Given the description of an element on the screen output the (x, y) to click on. 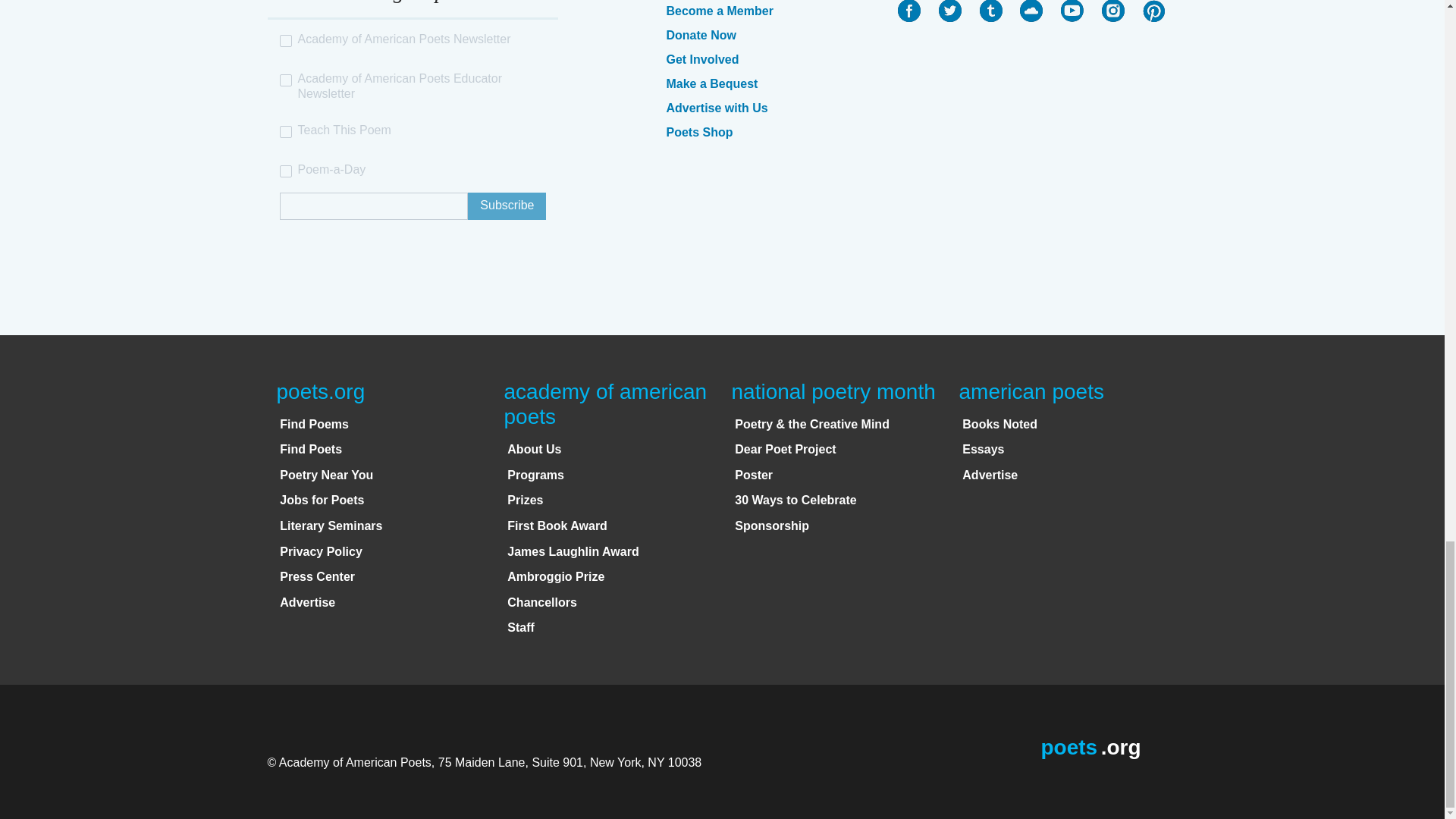
Poetry Near You (325, 474)
Privacy Policy (320, 551)
Subscribe (506, 206)
Literary Seminars (330, 525)
Press Center (317, 576)
Jobs for Poets (321, 499)
